Given the description of an element on the screen output the (x, y) to click on. 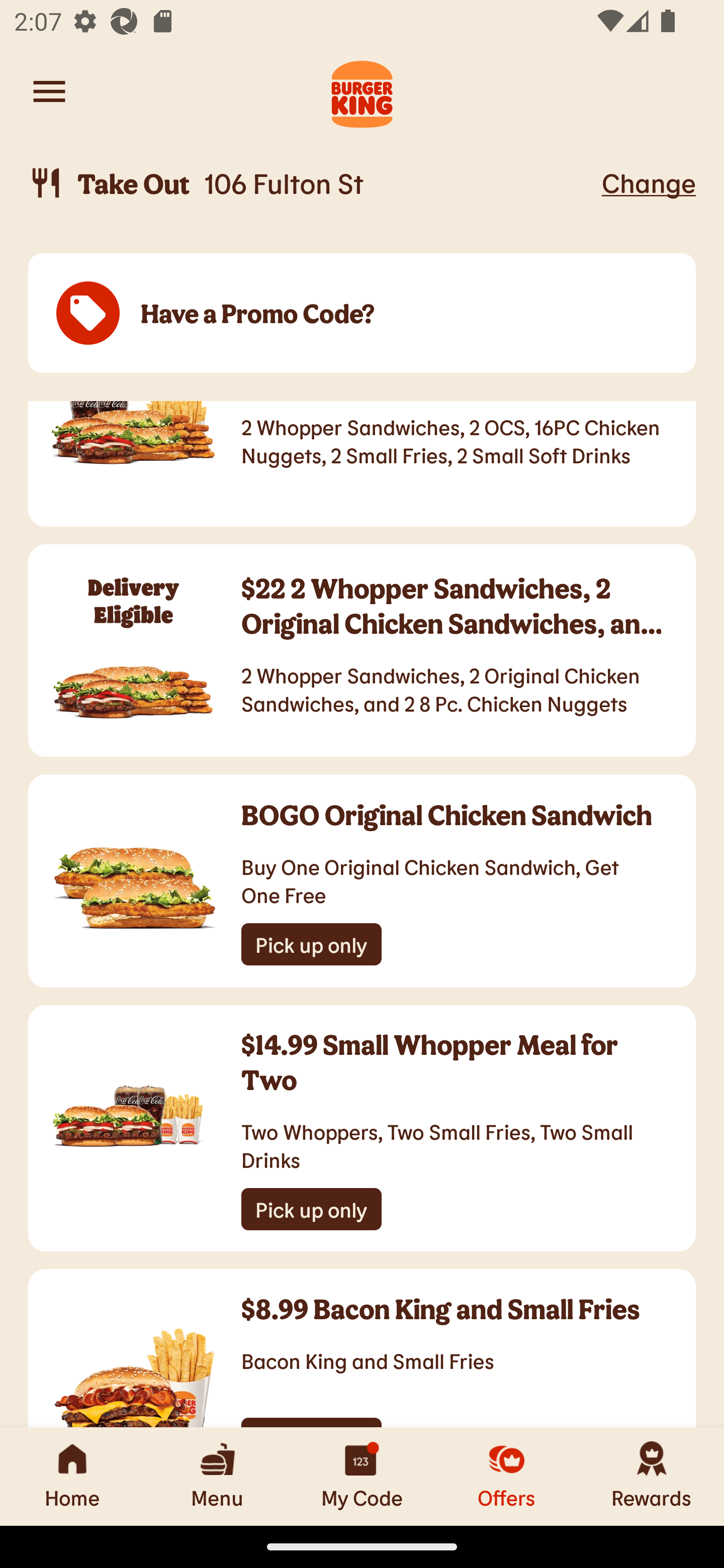
Burger King Logo. Navigate to Home (362, 91)
Navigate to account menu  (49, 91)
Take Out, 106 Fulton St  Take Out 106 Fulton St (311, 183)
Change (648, 182)
Have a Promo Code?  Have a Promo Code? (361, 313)
Home (72, 1475)
Menu (216, 1475)
My Code (361, 1475)
Offers (506, 1475)
Rewards (651, 1475)
